Given the description of an element on the screen output the (x, y) to click on. 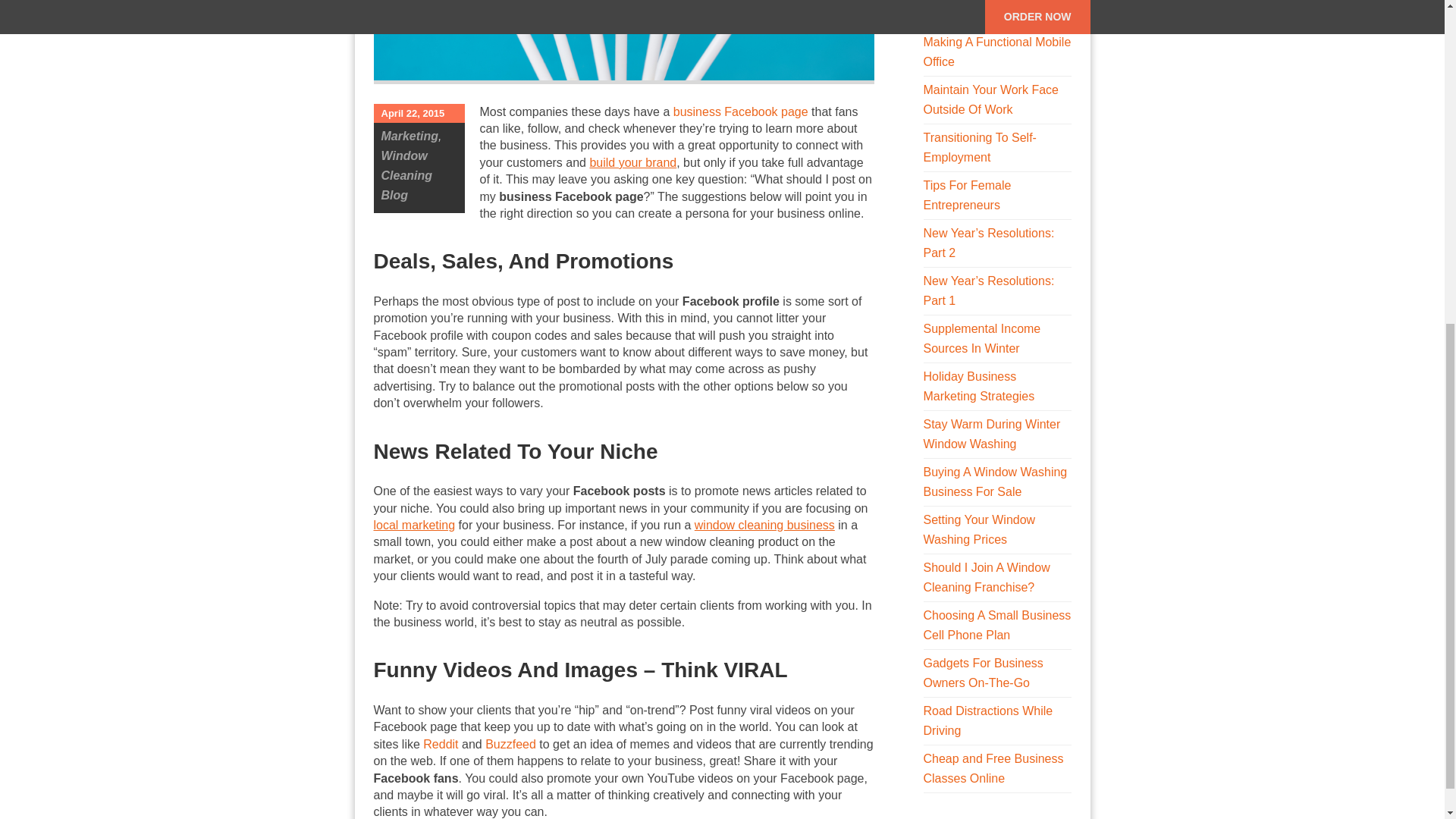
Marketing (409, 135)
Start A Window Cleaning Business, Window Washing Business (764, 524)
Maintain Your Work Face Outside Of Work (990, 99)
Reddit (440, 744)
Buzzfeed (509, 744)
Making A Functional Mobile Office (997, 51)
Window Cleaning Marketing Materials, Flyers, Business Cards (413, 524)
build your brand (633, 162)
Tips For Female Entrepreneurs (967, 195)
window cleaning business (764, 524)
